Given the description of an element on the screen output the (x, y) to click on. 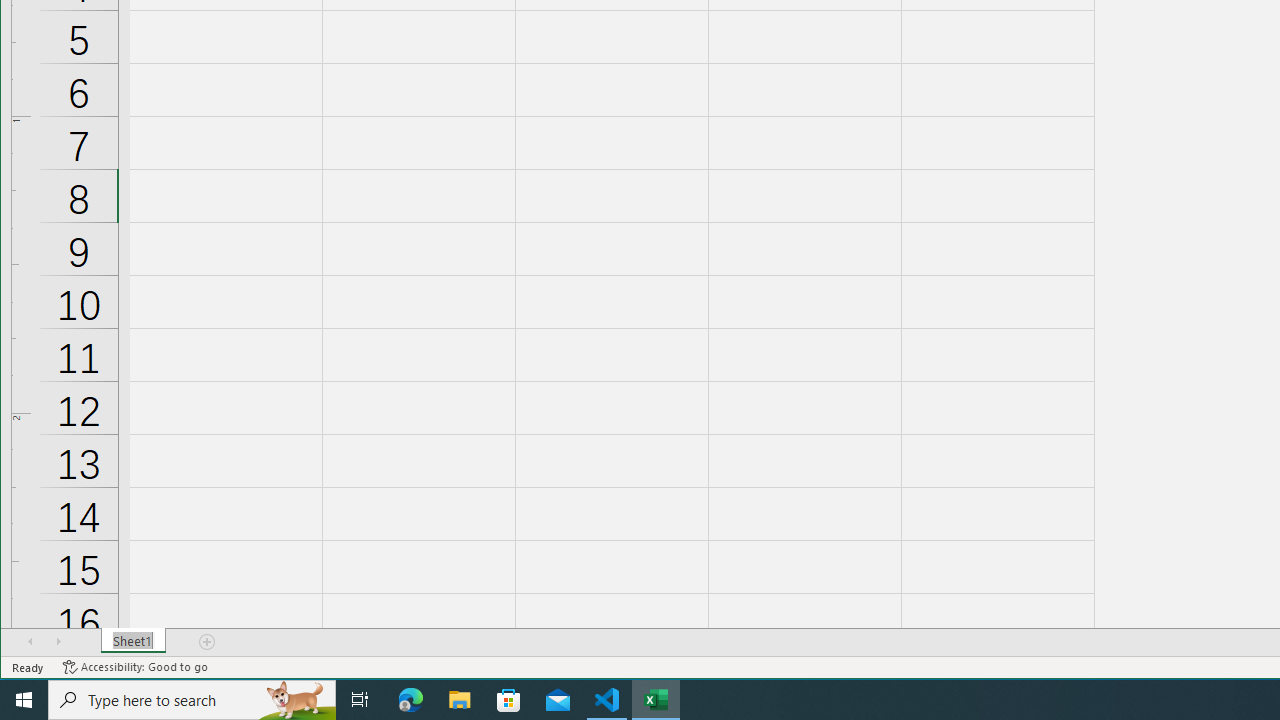
Sheet Tab (133, 641)
